Given the description of an element on the screen output the (x, y) to click on. 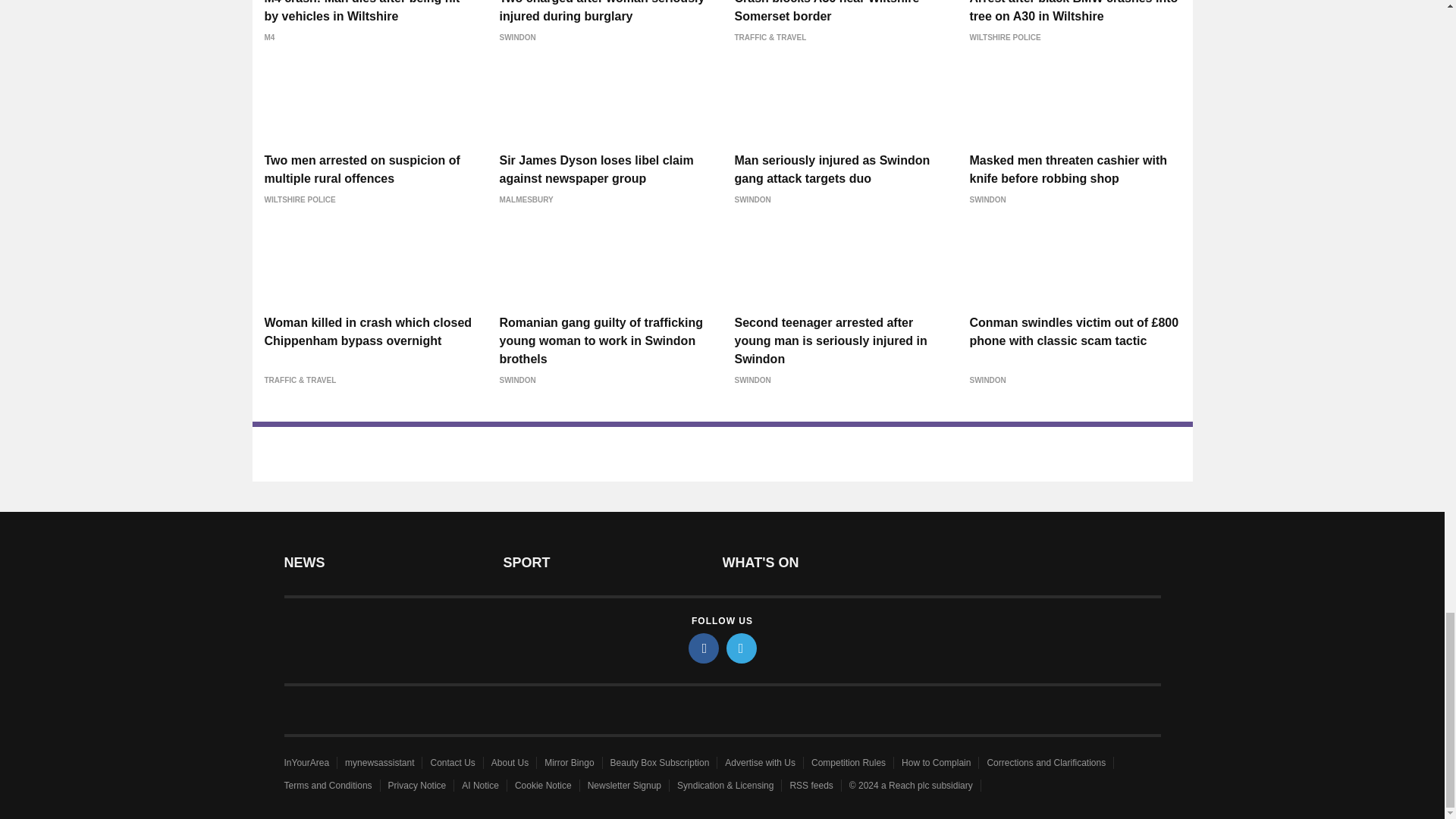
twitter (741, 648)
facebook (703, 648)
